Given the description of an element on the screen output the (x, y) to click on. 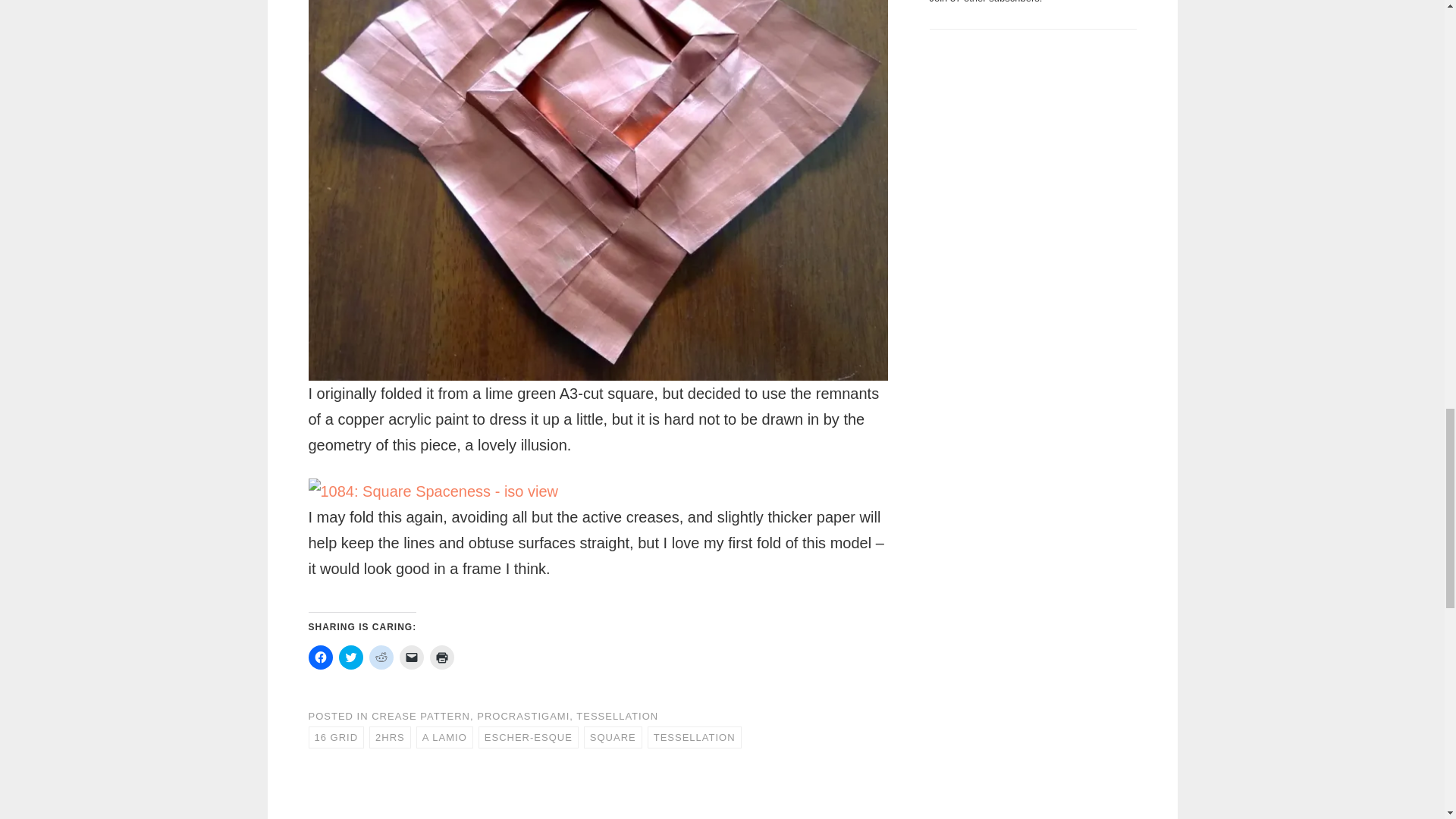
Click to share on Reddit (380, 657)
Click to email a link to a friend (410, 657)
16 GRID (335, 737)
CREASE PATTERN (420, 715)
TESSELLATION (694, 737)
SQUARE (612, 737)
PROCRASTIGAMI (523, 715)
Click to share on Facebook (319, 657)
A LAMIO (444, 737)
Click to print (440, 657)
Click to share on Twitter (349, 657)
ESCHER-ESQUE (528, 737)
TESSELLATION (617, 715)
2HRS (389, 737)
